Given the description of an element on the screen output the (x, y) to click on. 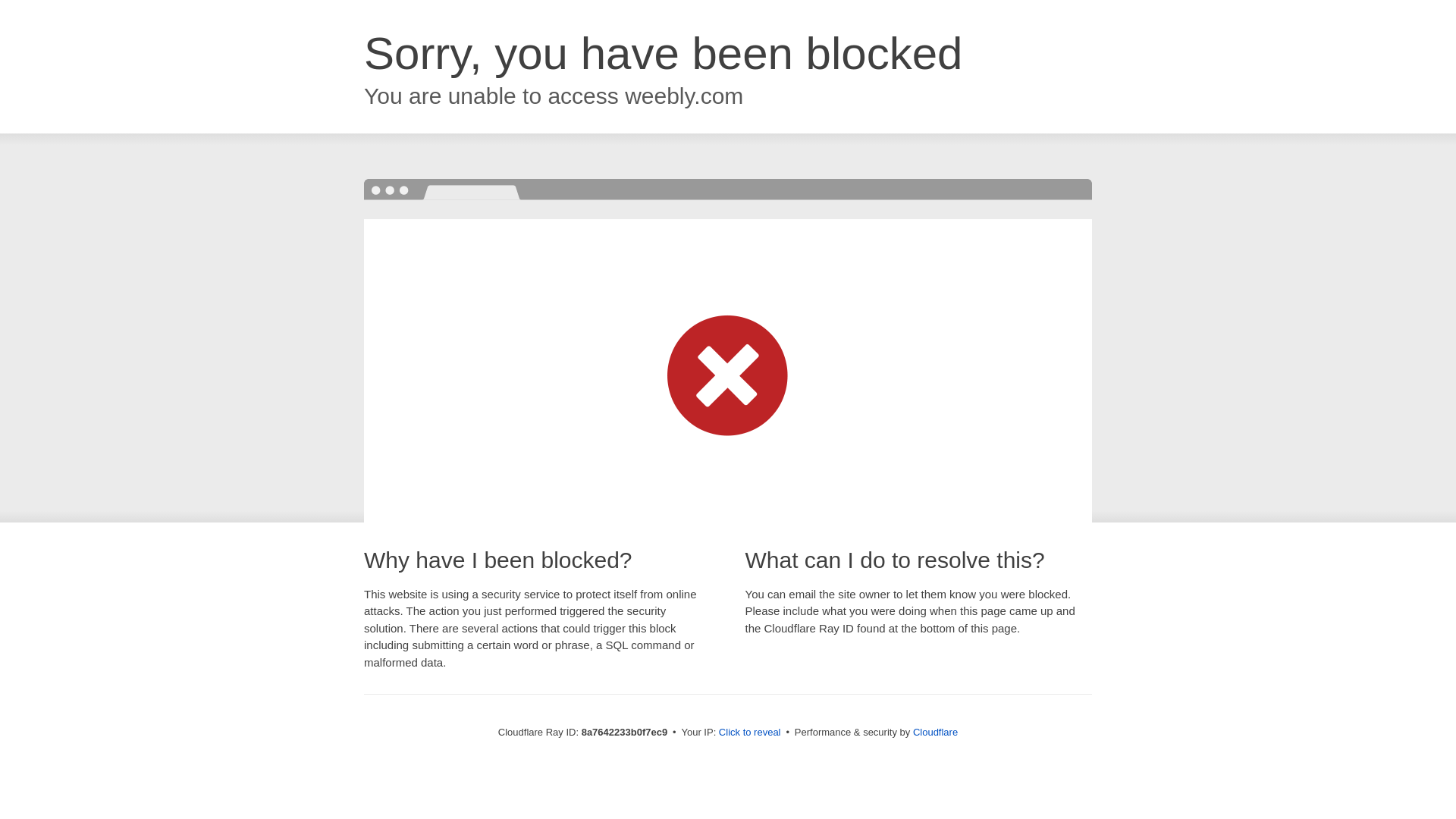
Cloudflare (935, 731)
Click to reveal (749, 732)
